Given the description of an element on the screen output the (x, y) to click on. 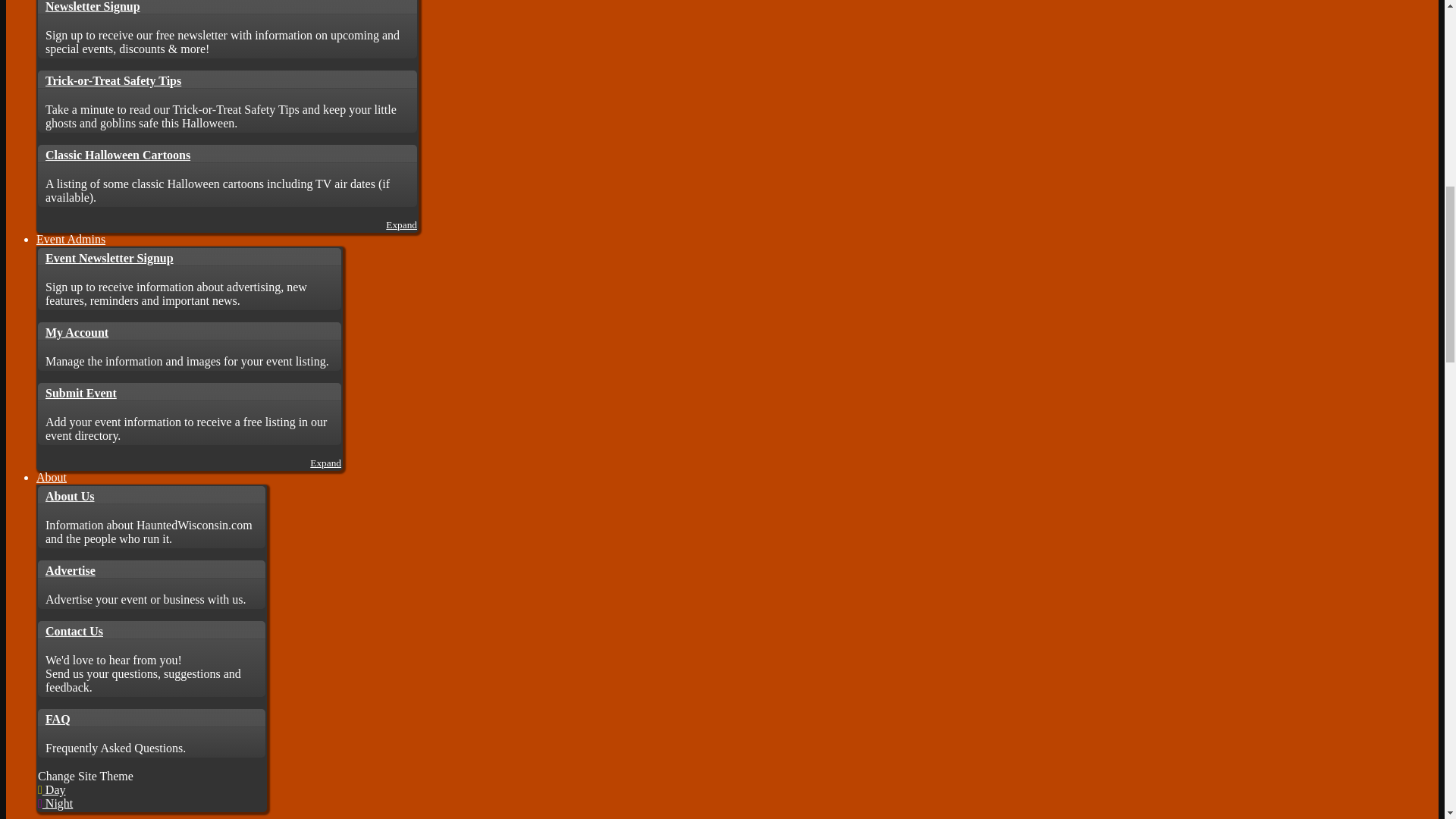
Trick-or-Treat Safety Tips (226, 79)
Night (54, 802)
About (51, 477)
FAQ (150, 718)
Expand (325, 462)
Advertise (150, 569)
Day (51, 789)
Contact Us (150, 629)
Event Admins (70, 238)
About Us (150, 495)
My Account (188, 331)
Submit Event (188, 392)
Classic Halloween Cartoons (226, 153)
Newsletter Signup (226, 7)
Event Newsletter Signup (188, 257)
